Given the description of an element on the screen output the (x, y) to click on. 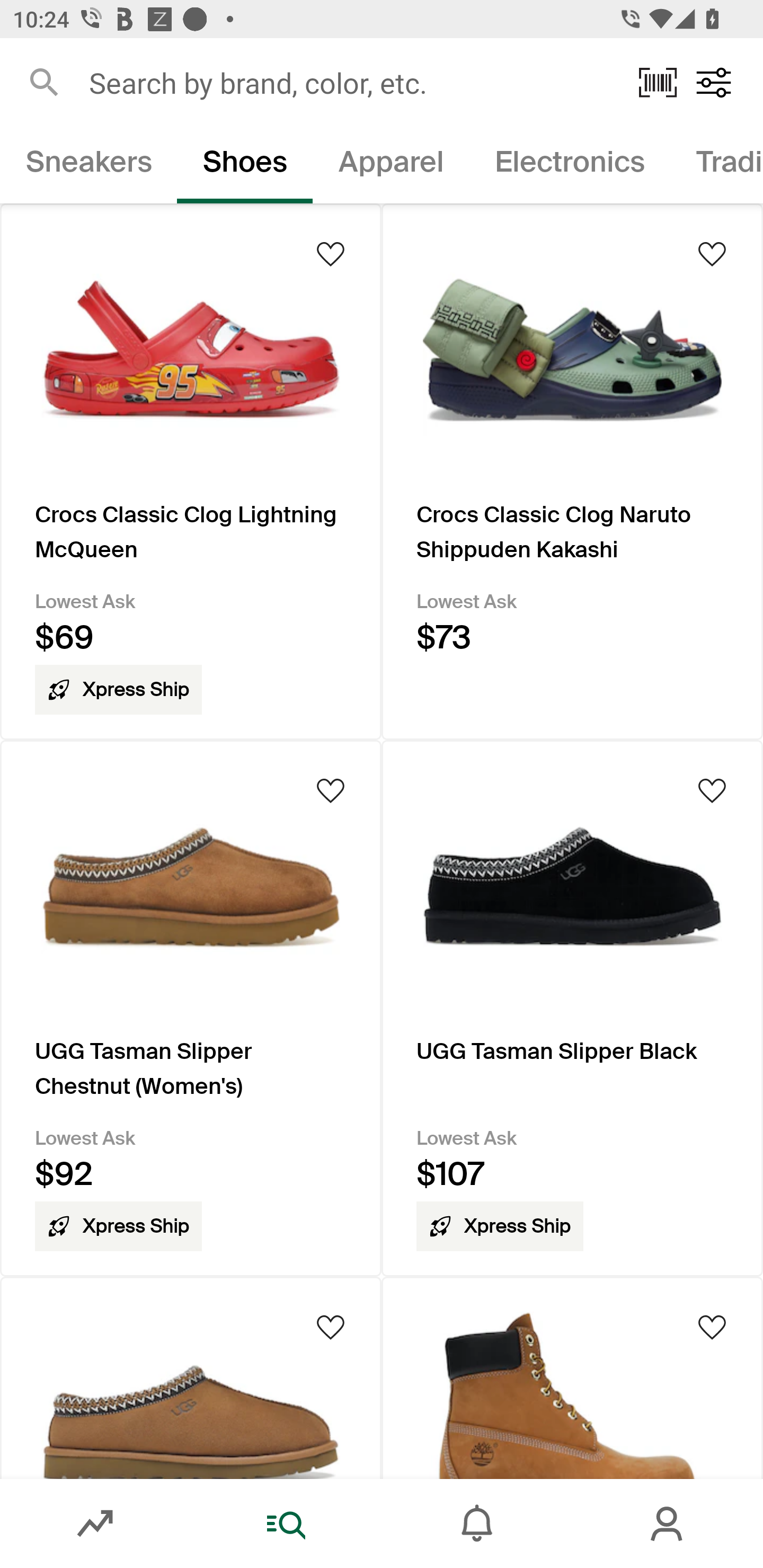
Search by brand, color, etc. (351, 82)
Sneakers (88, 165)
Apparel (390, 165)
Electronics (569, 165)
Product Image (190, 1377)
Product Image (572, 1377)
Market (95, 1523)
Inbox (476, 1523)
Account (667, 1523)
